Given the description of an element on the screen output the (x, y) to click on. 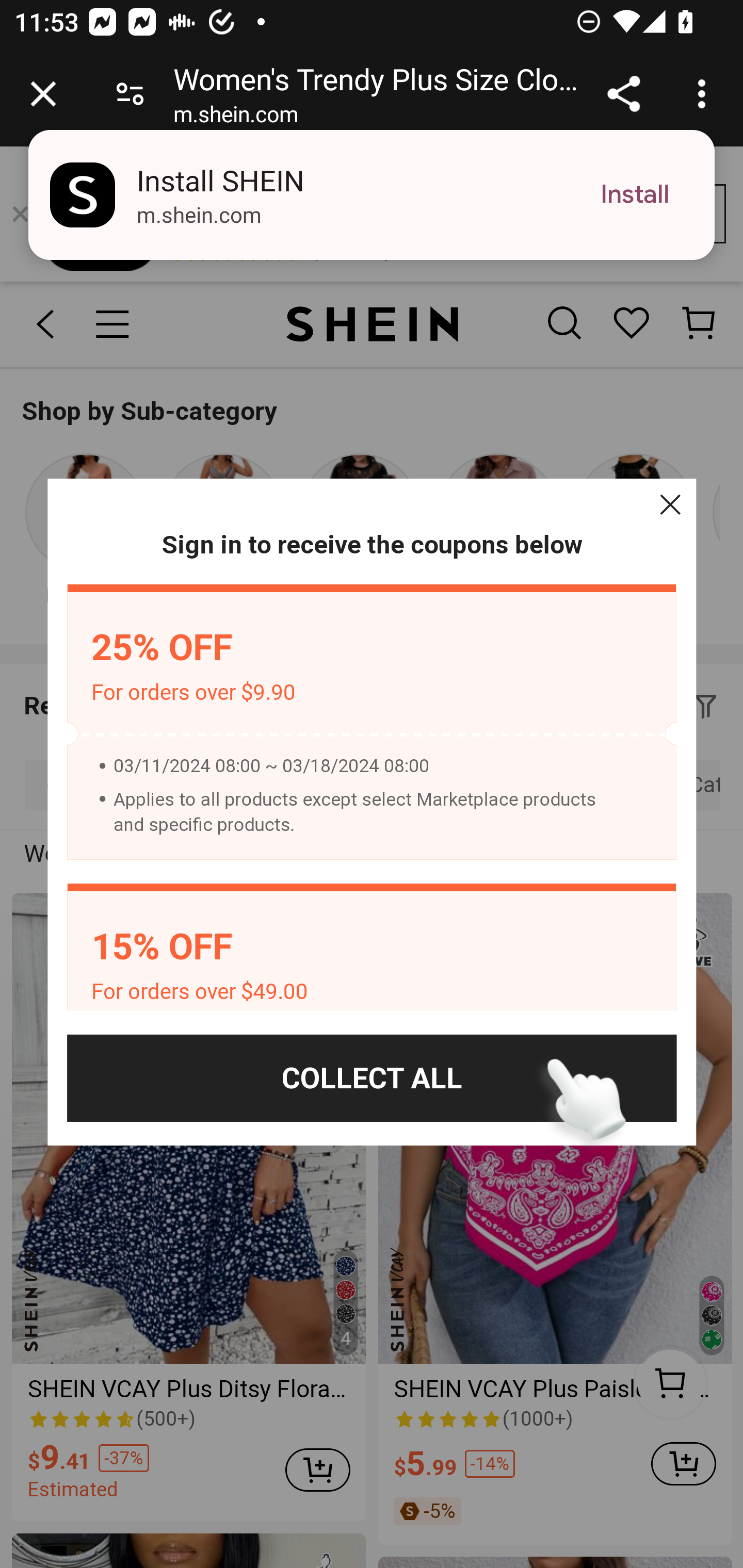
Close tab (43, 93)
Share link address (623, 93)
Customize and control Google Chrome (705, 93)
Connection is secure (129, 93)
m.shein.com (235, 117)
Install (634, 195)
Close (669, 503)
COLLECT ALL (371, 1077)
